Given the description of an element on the screen output the (x, y) to click on. 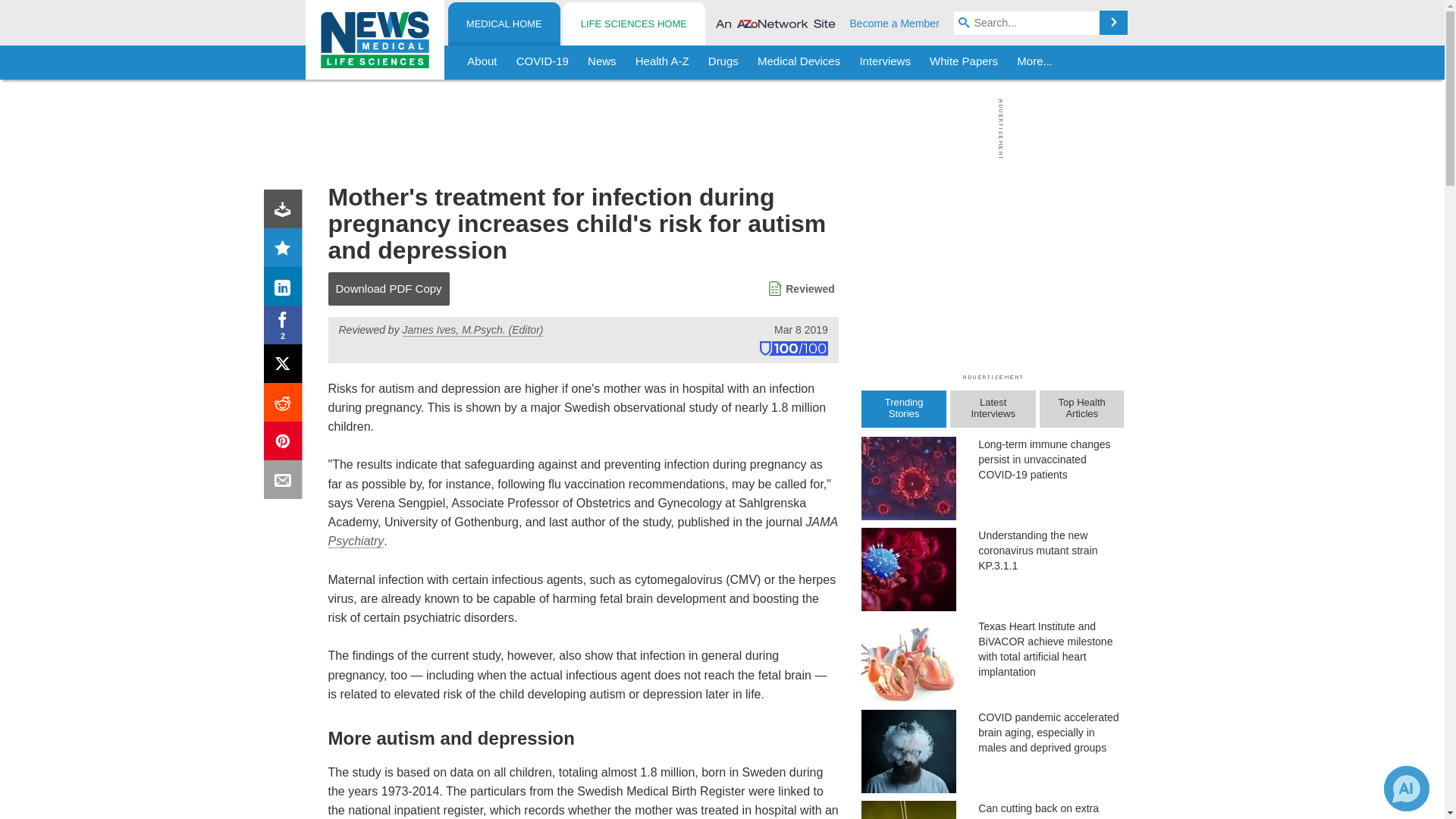
Pinterest (285, 443)
More... (1035, 62)
X (285, 366)
Health A-Z (662, 62)
Reddit (285, 405)
Become a Member (894, 22)
LIFE SCIENCES HOME (633, 23)
LinkedIn (285, 289)
White Papers (963, 62)
Medical Devices (798, 62)
Search (1112, 22)
MEDICAL HOME (504, 23)
Facebook (285, 328)
Email (285, 483)
